Given the description of an element on the screen output the (x, y) to click on. 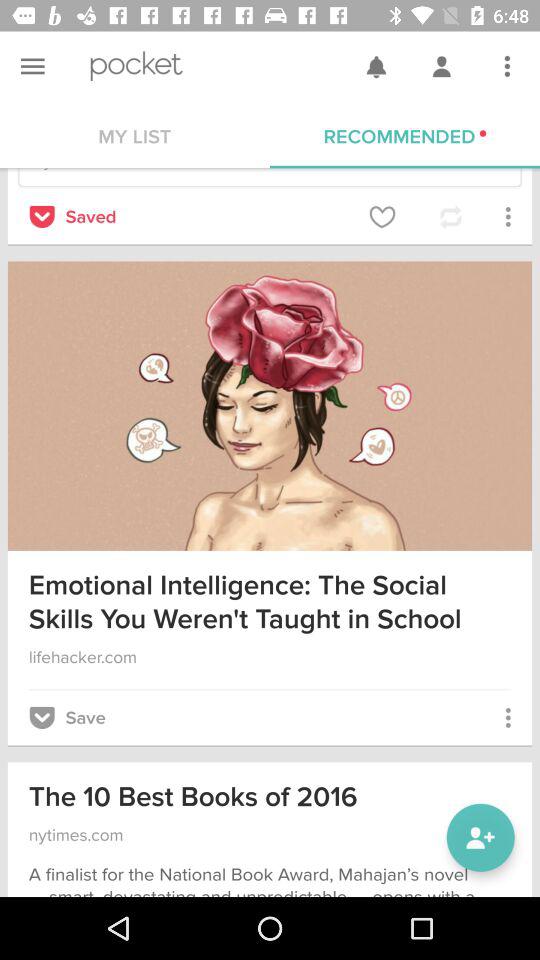
select the item next to the the 10 best item (480, 837)
